Given the description of an element on the screen output the (x, y) to click on. 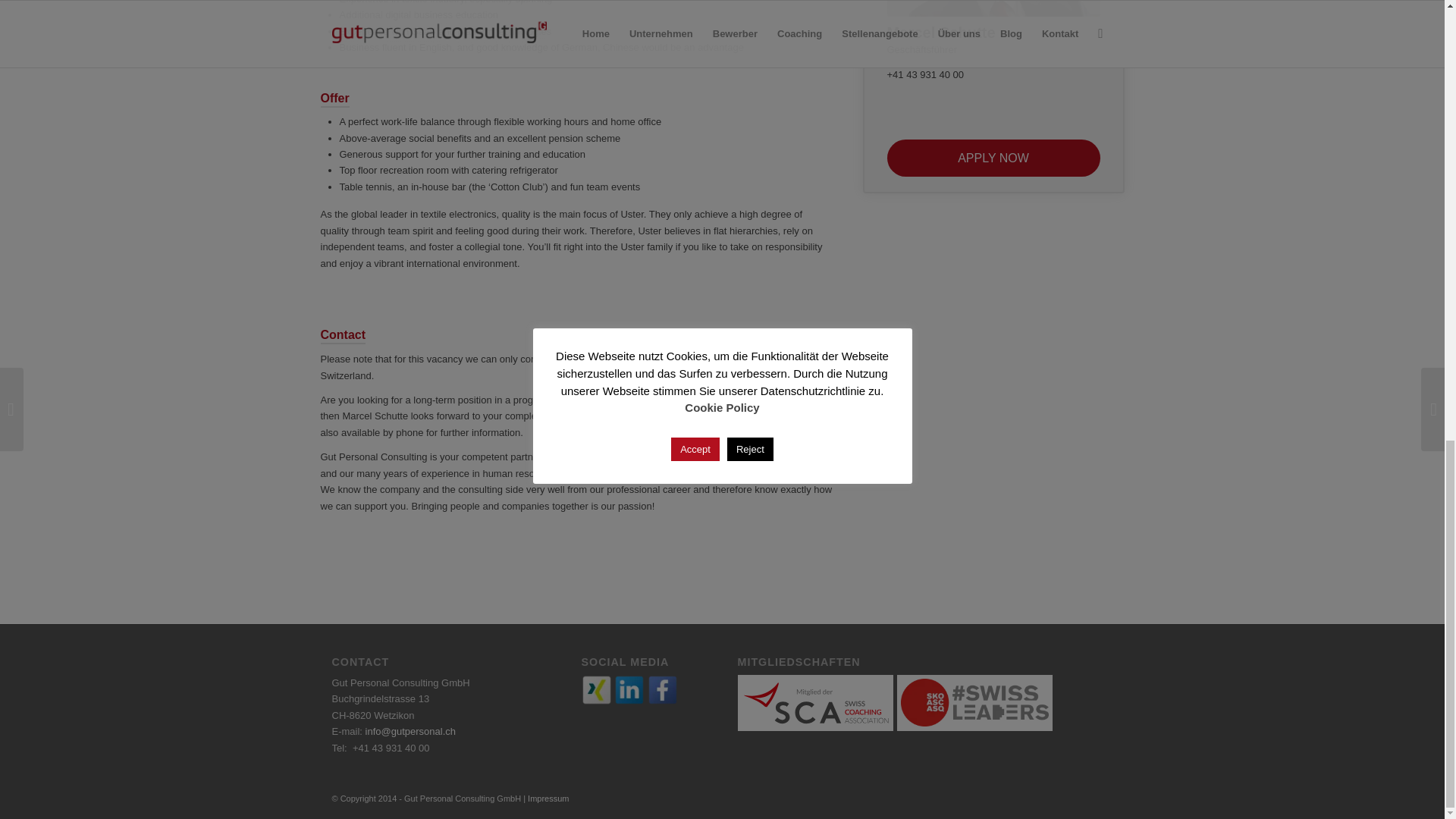
Impressum (548, 798)
APPLY NOW (993, 157)
